Given the description of an element on the screen output the (x, y) to click on. 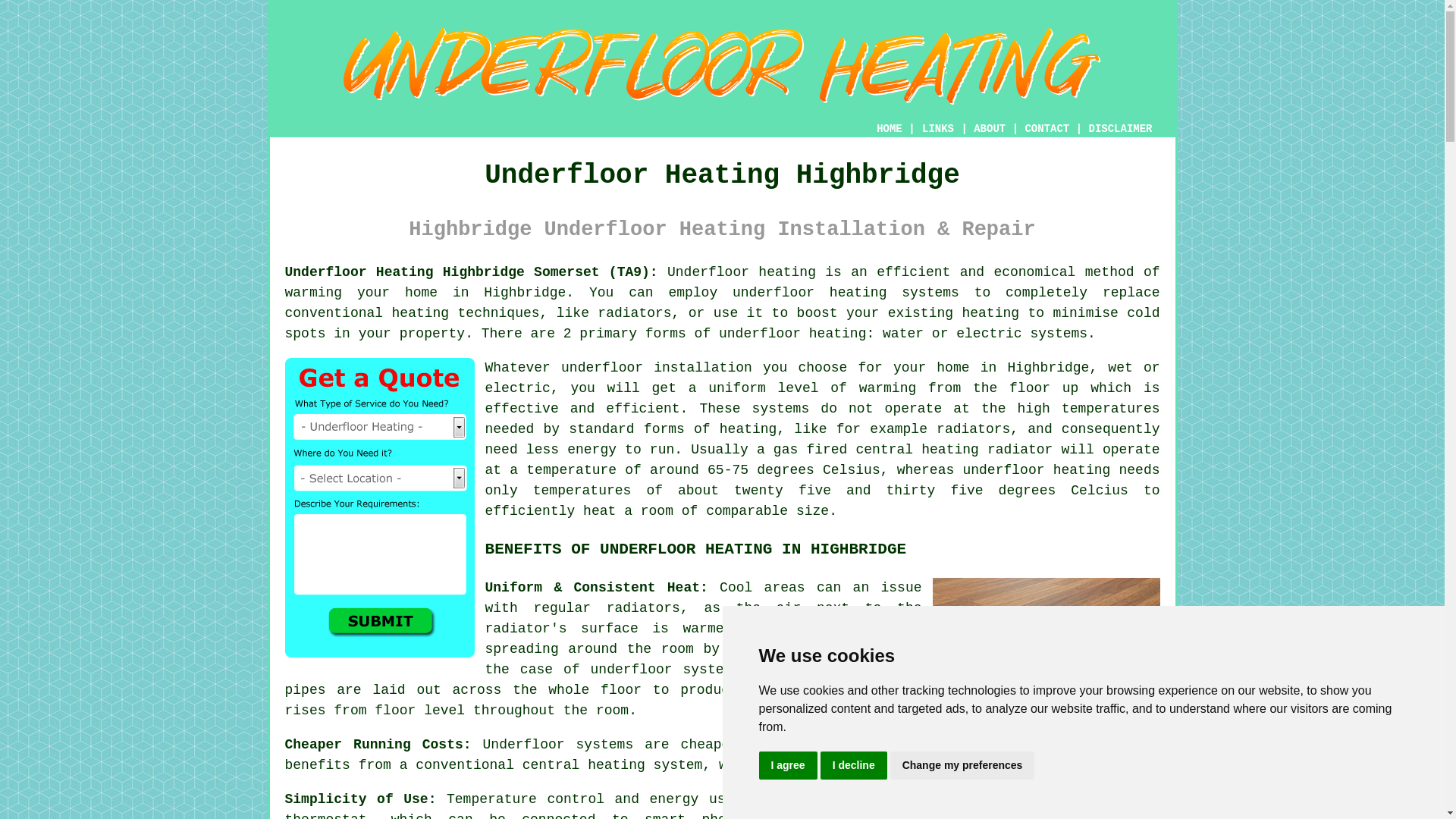
Change my preferences (962, 765)
LINKS (938, 128)
HOME (889, 128)
underfloor heating (792, 333)
I agree (787, 765)
underfloor heating (1035, 469)
Underfloor Heating Highbridge (721, 66)
I decline (853, 765)
